Given the description of an element on the screen output the (x, y) to click on. 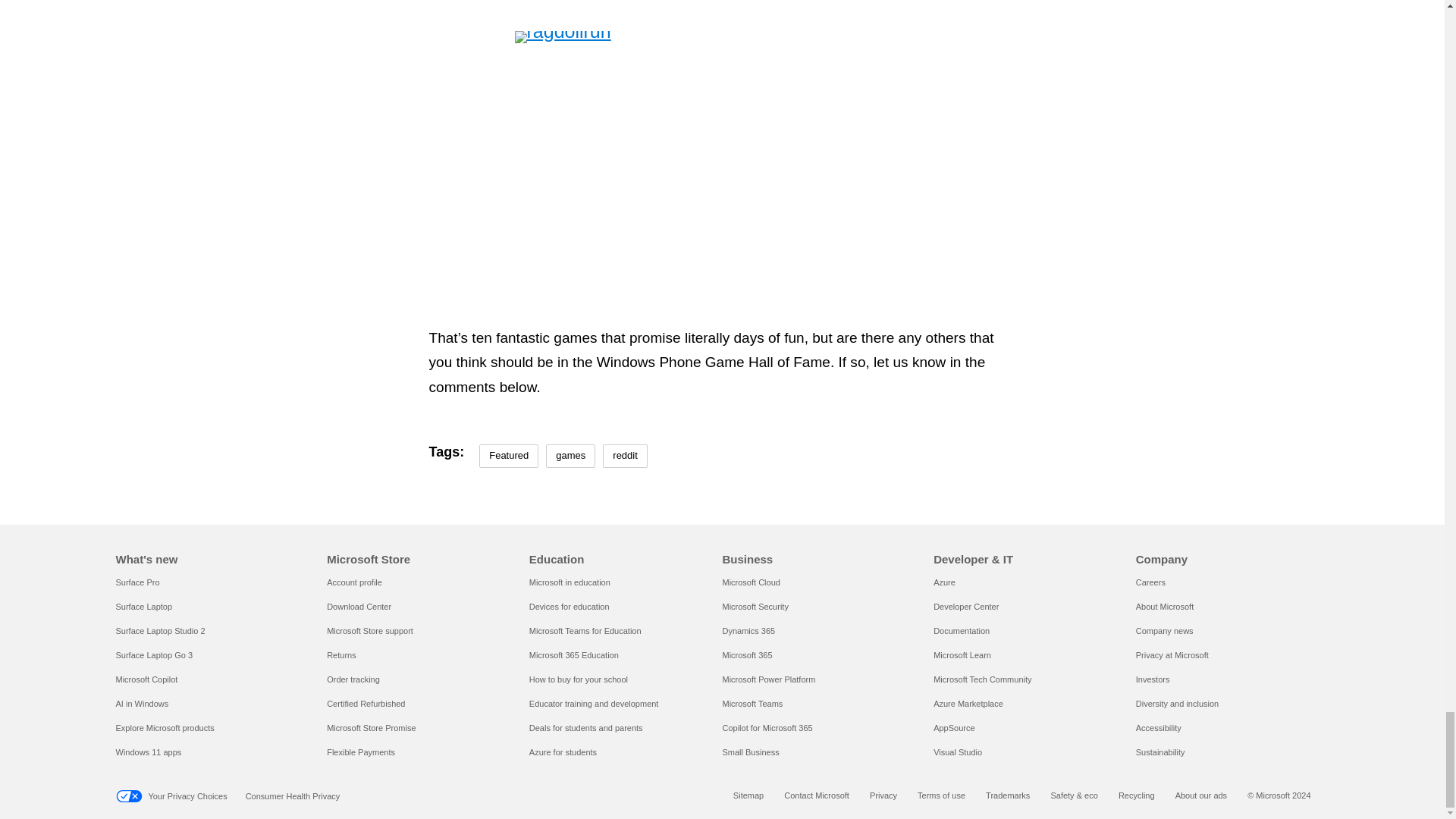
games Tag (570, 455)
Featured Tag (508, 455)
reddit Tag (624, 455)
